Given the description of an element on the screen output the (x, y) to click on. 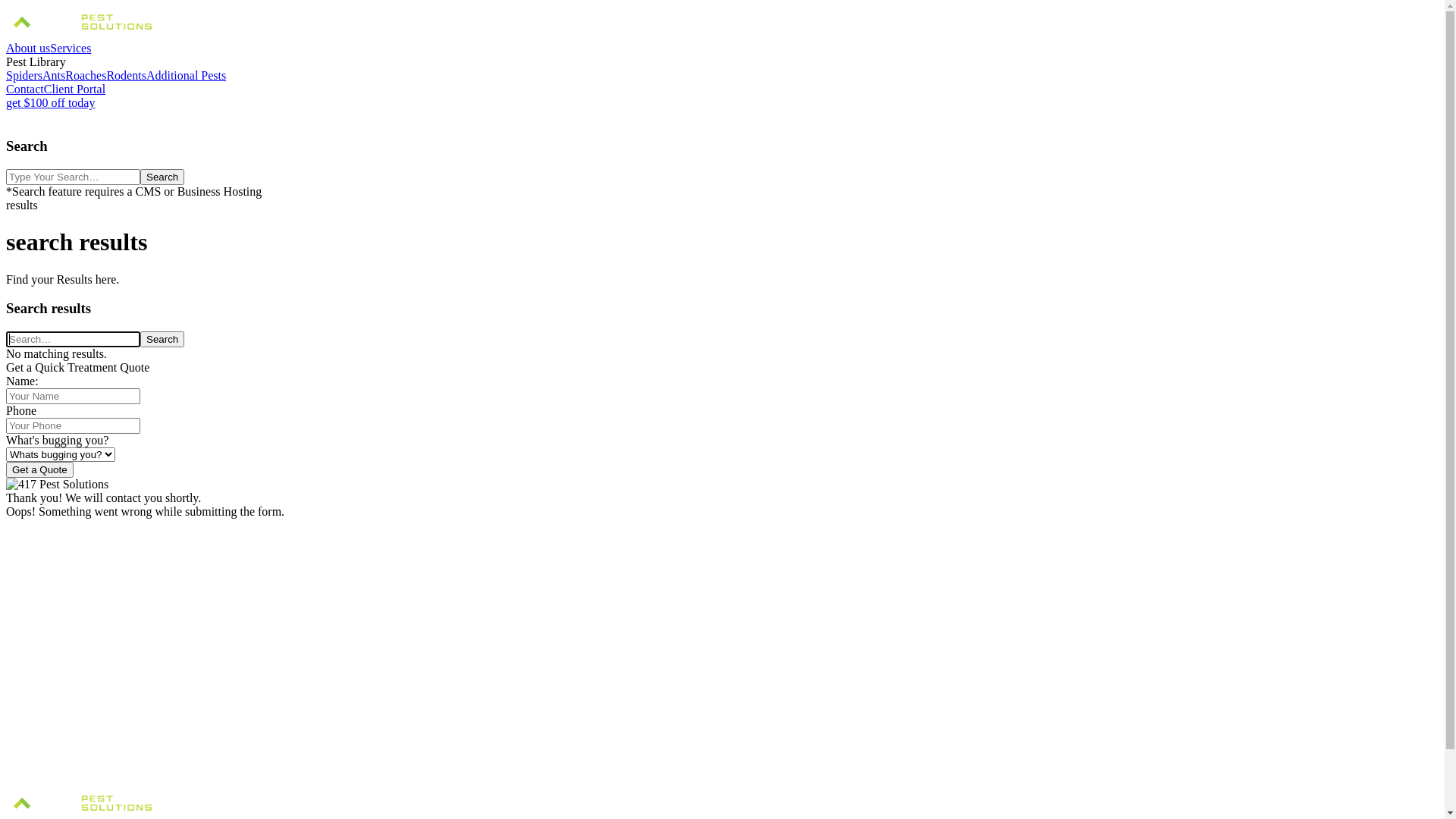
Client Portal Element type: text (74, 88)
Services Element type: text (70, 47)
Ants Element type: text (53, 75)
get $100 off today Element type: text (50, 102)
Search Element type: text (162, 339)
Rodents Element type: text (125, 75)
Get a Quote Element type: text (39, 469)
Additional Pests Element type: text (185, 75)
Search Element type: text (162, 177)
About us Element type: text (28, 47)
Roaches Element type: text (85, 75)
Contact Element type: text (24, 88)
Spiders Element type: text (24, 75)
